Given the description of an element on the screen output the (x, y) to click on. 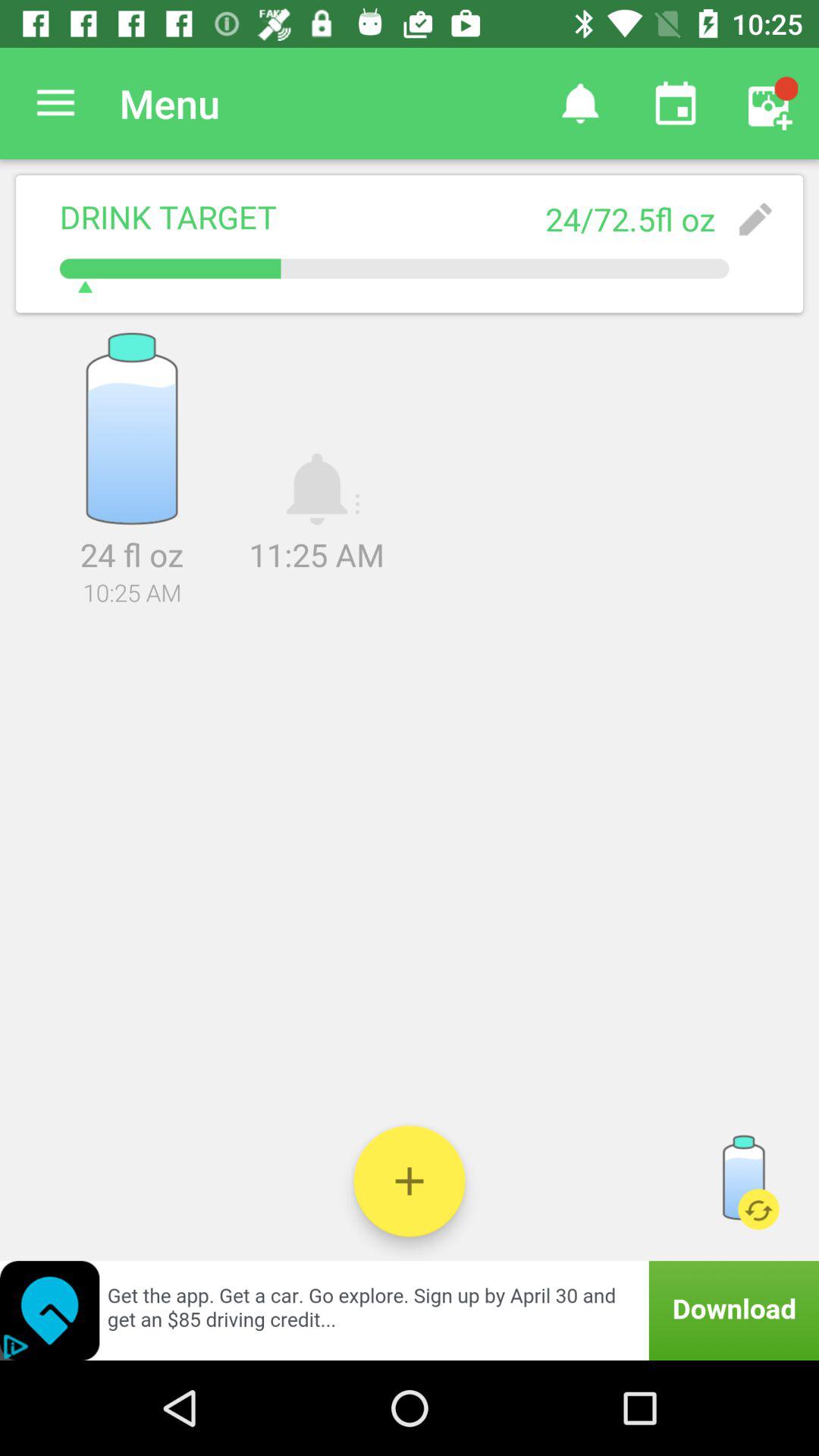
tap the icon next to menu item (55, 103)
